Given the description of an element on the screen output the (x, y) to click on. 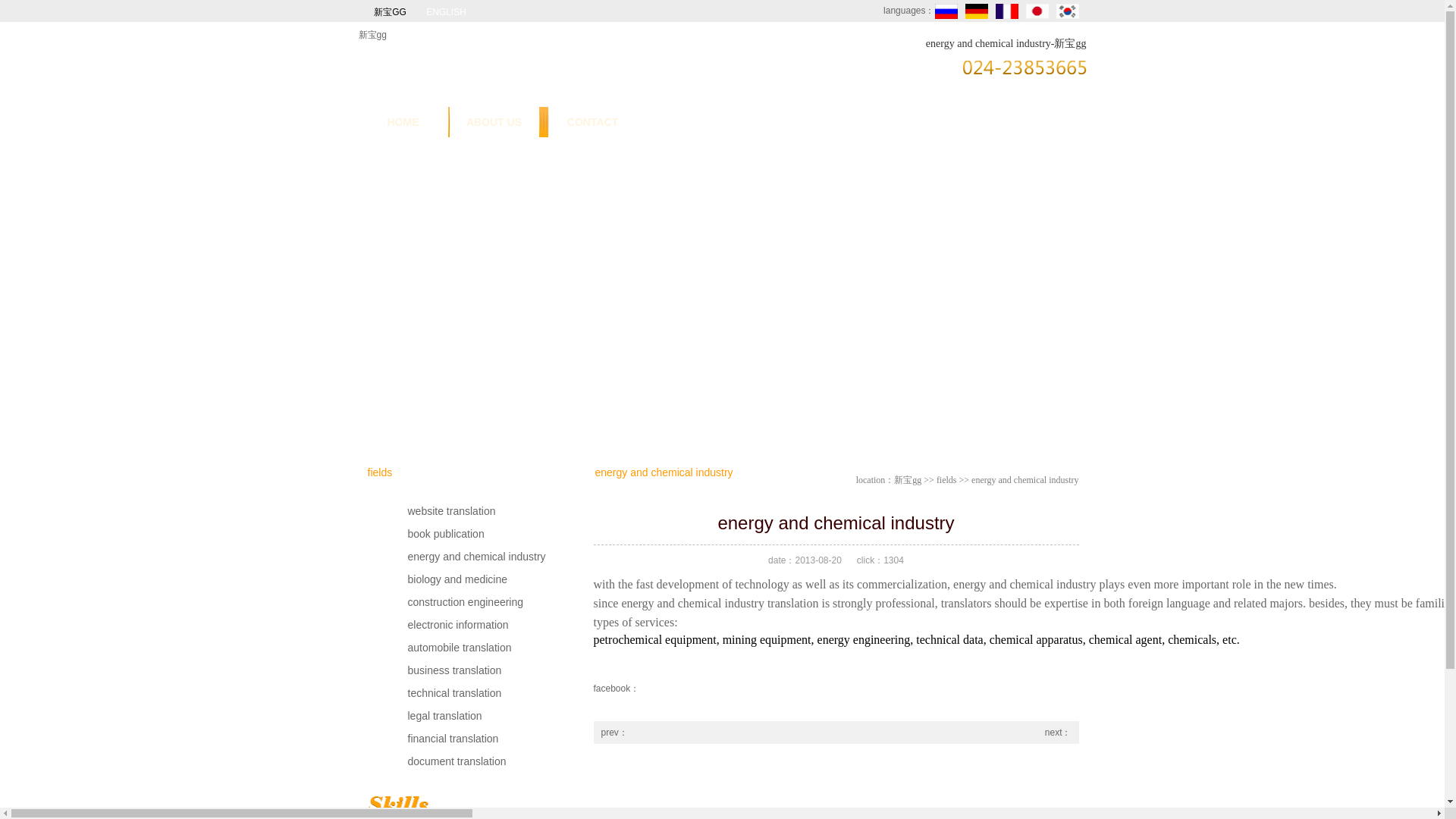
document translation (458, 761)
business translation (458, 670)
electronic information (458, 624)
technical translation (458, 692)
CONTACT (592, 122)
ABOUT US (493, 122)
ENGLISH (446, 12)
fields (946, 480)
financial translation (458, 738)
biology and medicine (458, 579)
